Given the description of an element on the screen output the (x, y) to click on. 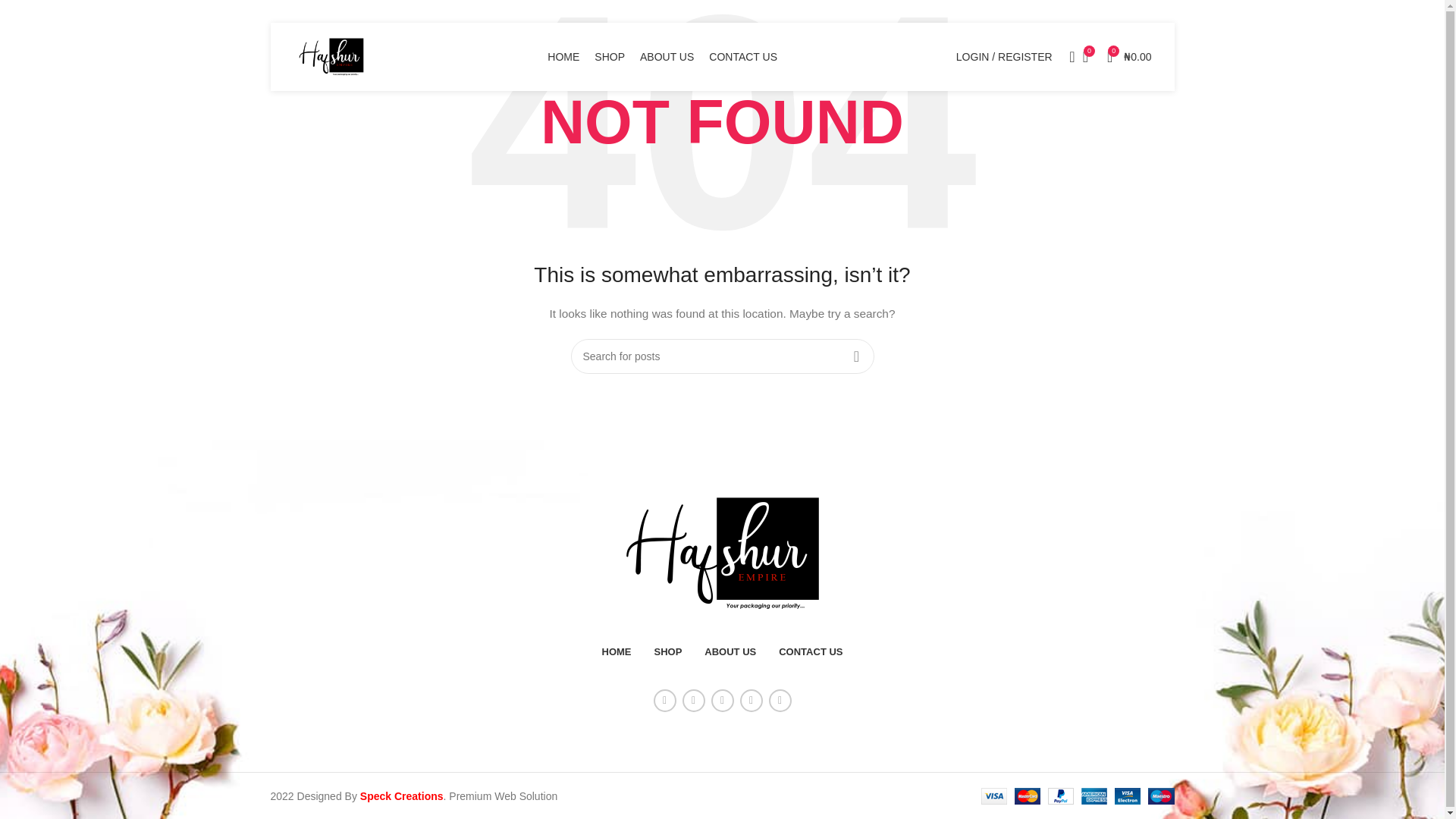
HOME (616, 652)
SEARCH (855, 356)
Shopping cart (1128, 56)
SHOP (609, 56)
HOME (563, 56)
CONTACT US (743, 56)
SHOP (667, 652)
CONTACT US (810, 652)
Search for posts (721, 356)
My account (1004, 56)
